Given the description of an element on the screen output the (x, y) to click on. 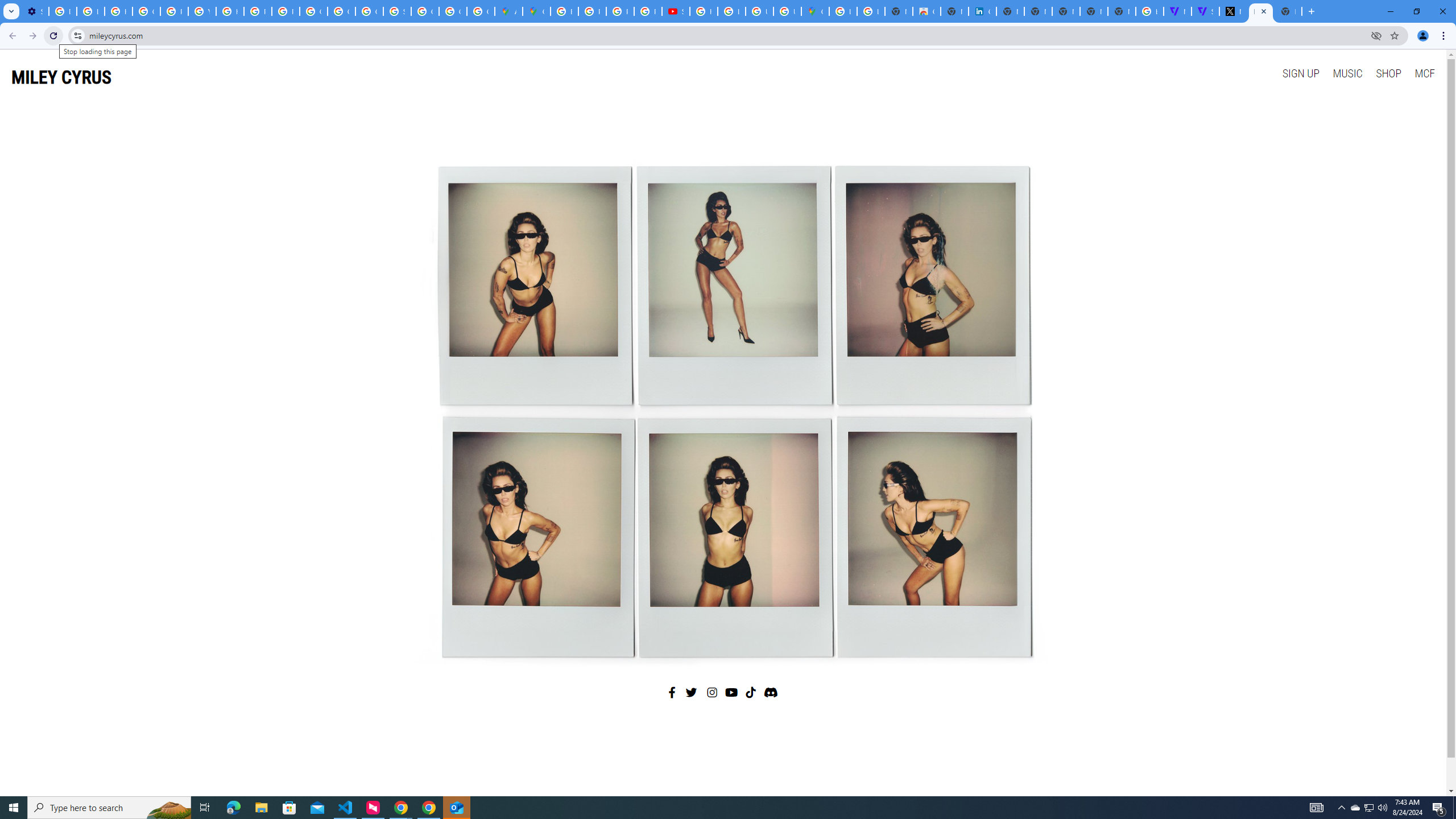
How Chrome protects your passwords - Google Chrome Help (703, 11)
Cookie Policy | LinkedIn (982, 11)
Sign in - Google Accounts (397, 11)
